Given the description of an element on the screen output the (x, y) to click on. 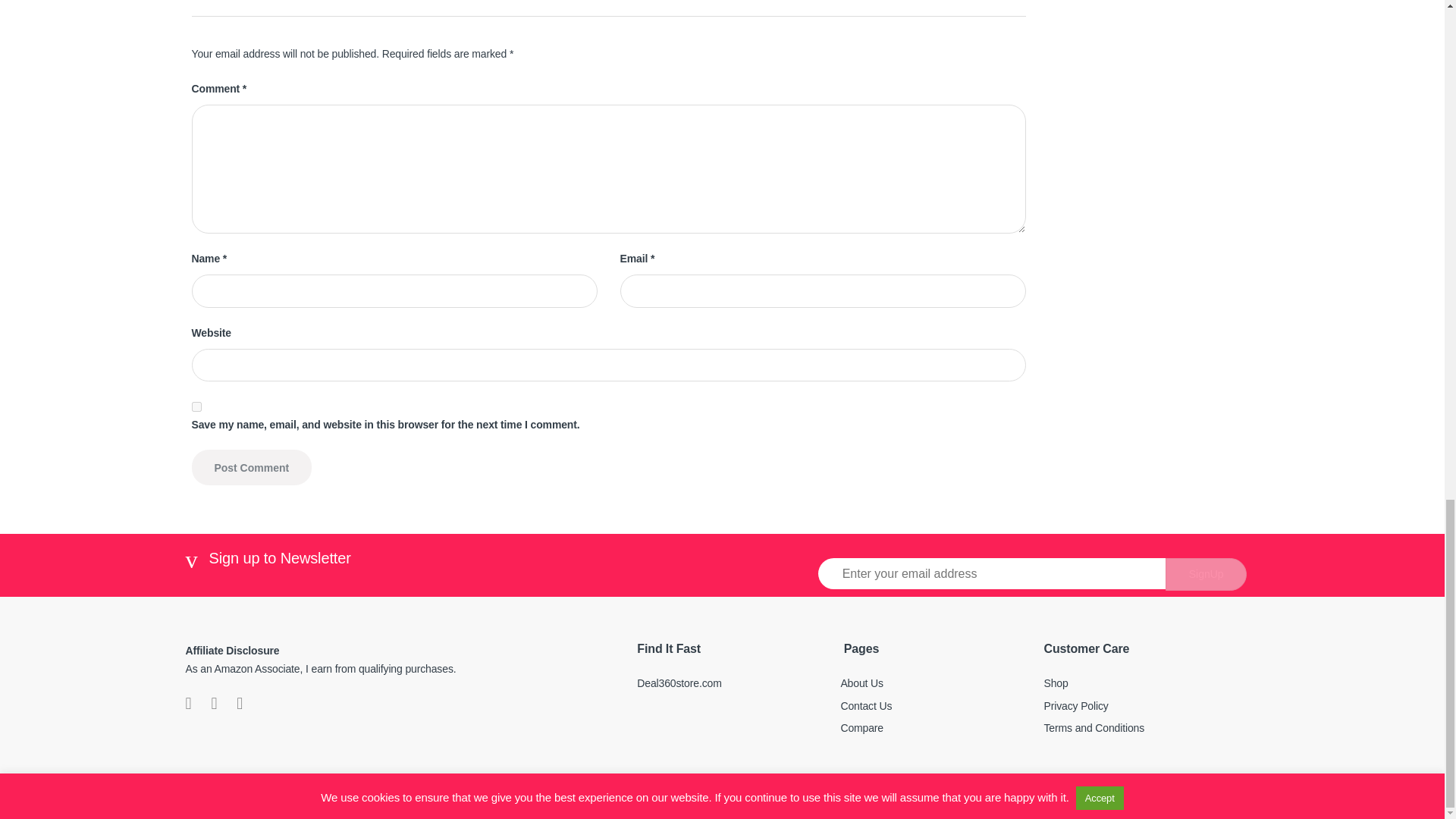
yes (195, 406)
Post Comment (250, 467)
